Given the description of an element on the screen output the (x, y) to click on. 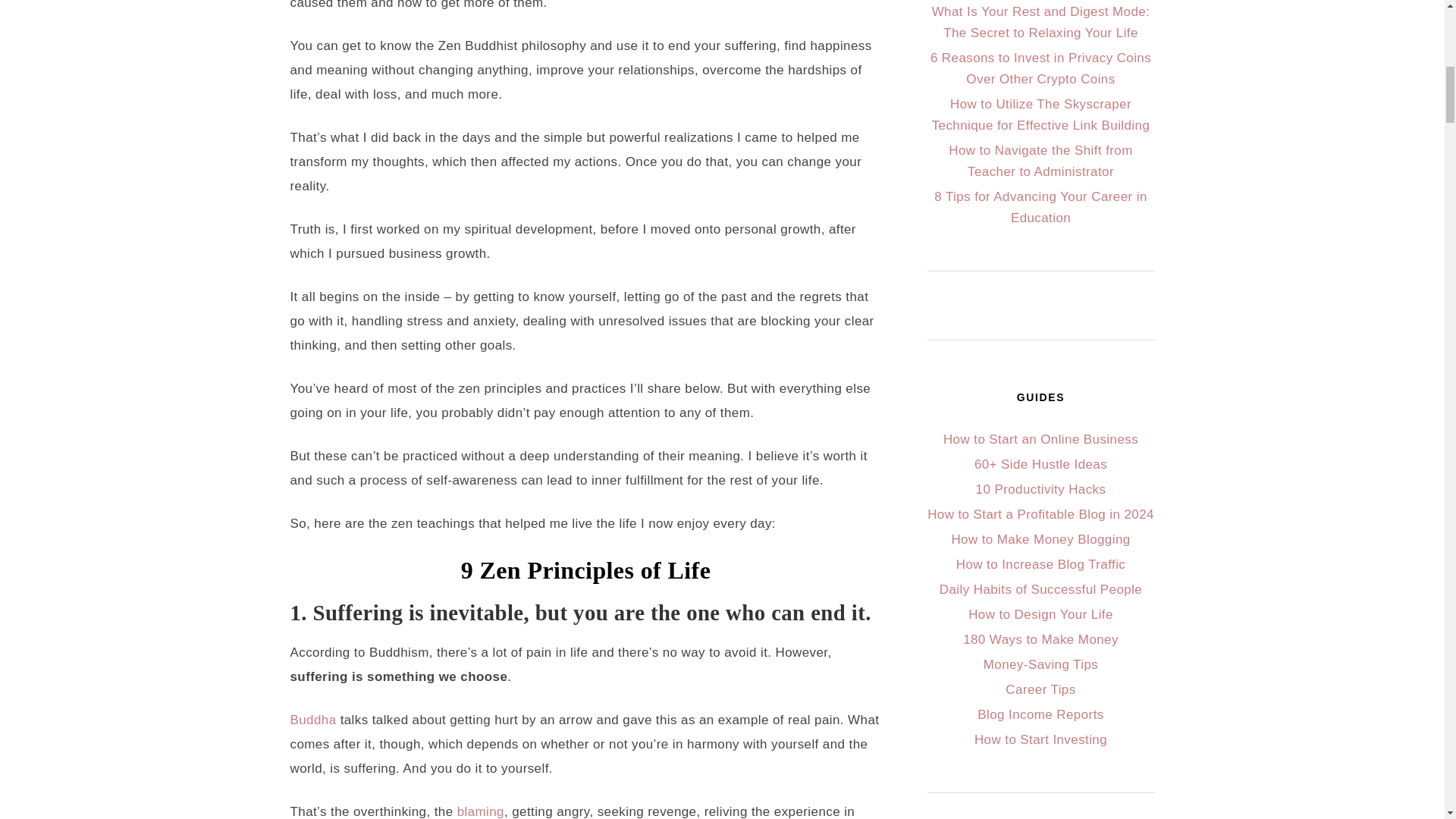
blaming (480, 811)
Buddha (312, 719)
